Given the description of an element on the screen output the (x, y) to click on. 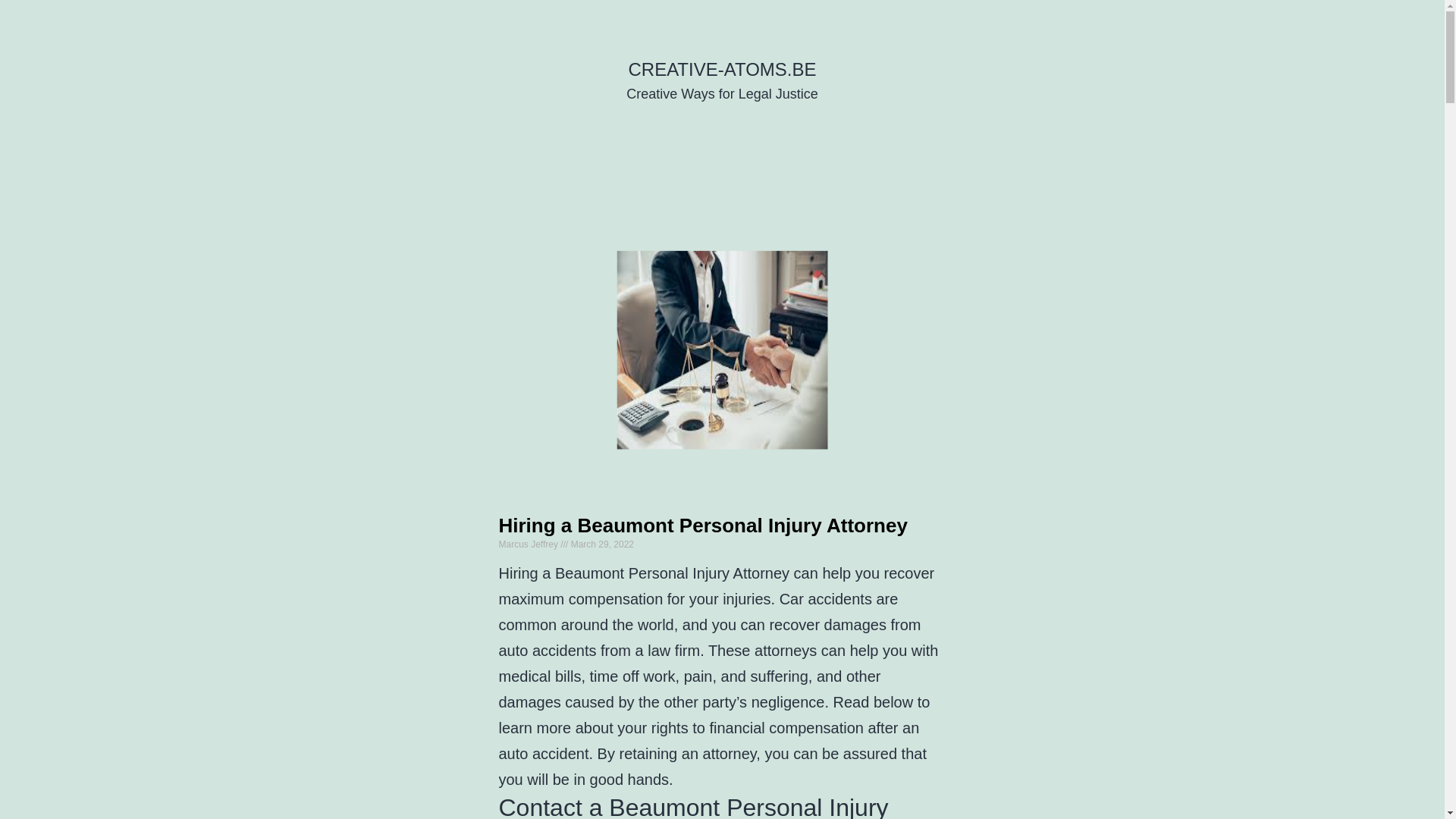
Hiring a Beaumont Personal Injury Attorney Element type: text (702, 525)
Beaumont Personal Injury Attorney Element type: text (672, 572)
